Given the description of an element on the screen output the (x, y) to click on. 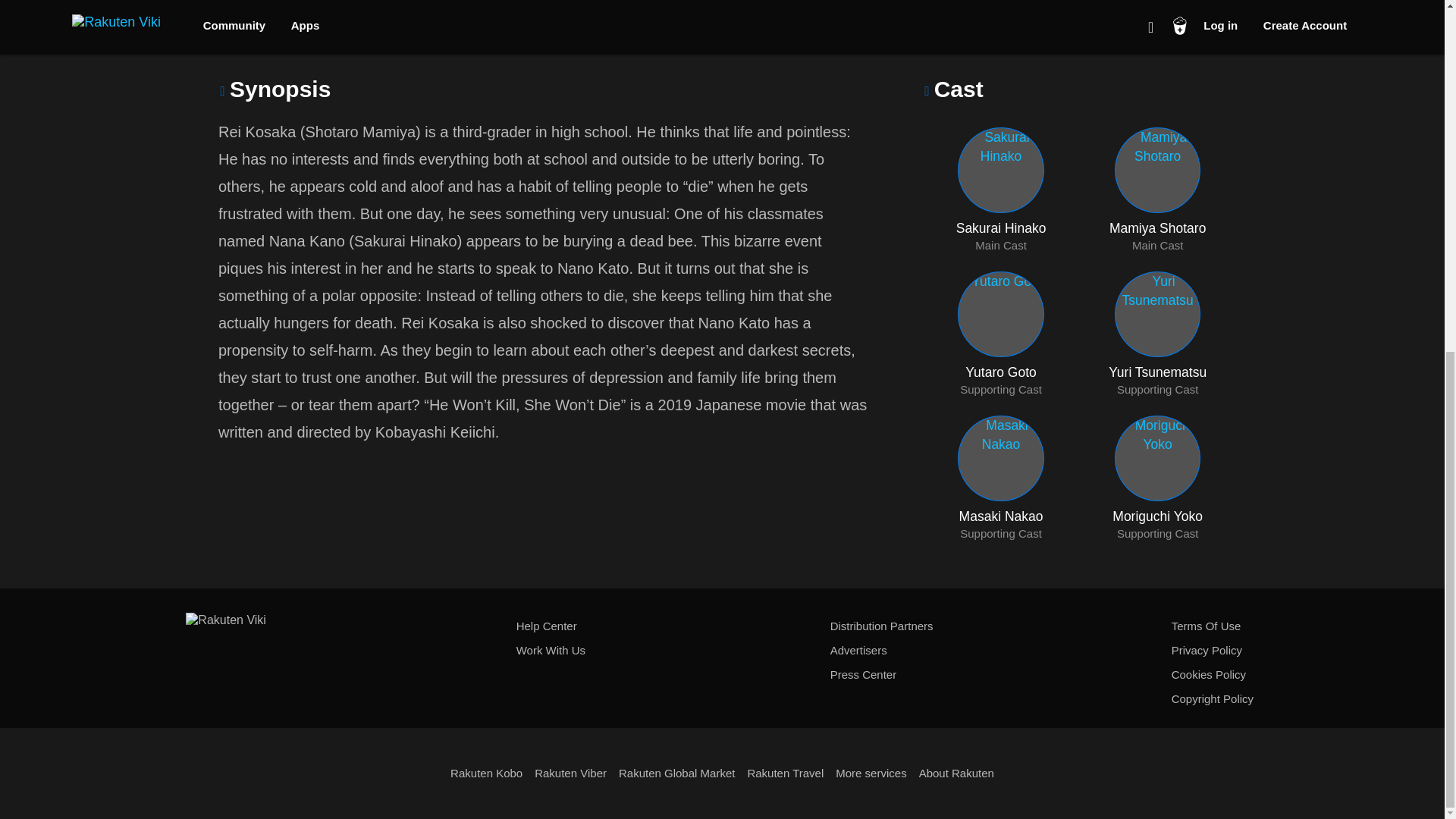
About (484, 18)
Subtitle team (657, 18)
Cookie Settings (1000, 190)
Accept All (976, 257)
Cookies Policy (1107, 257)
